Given the description of an element on the screen output the (x, y) to click on. 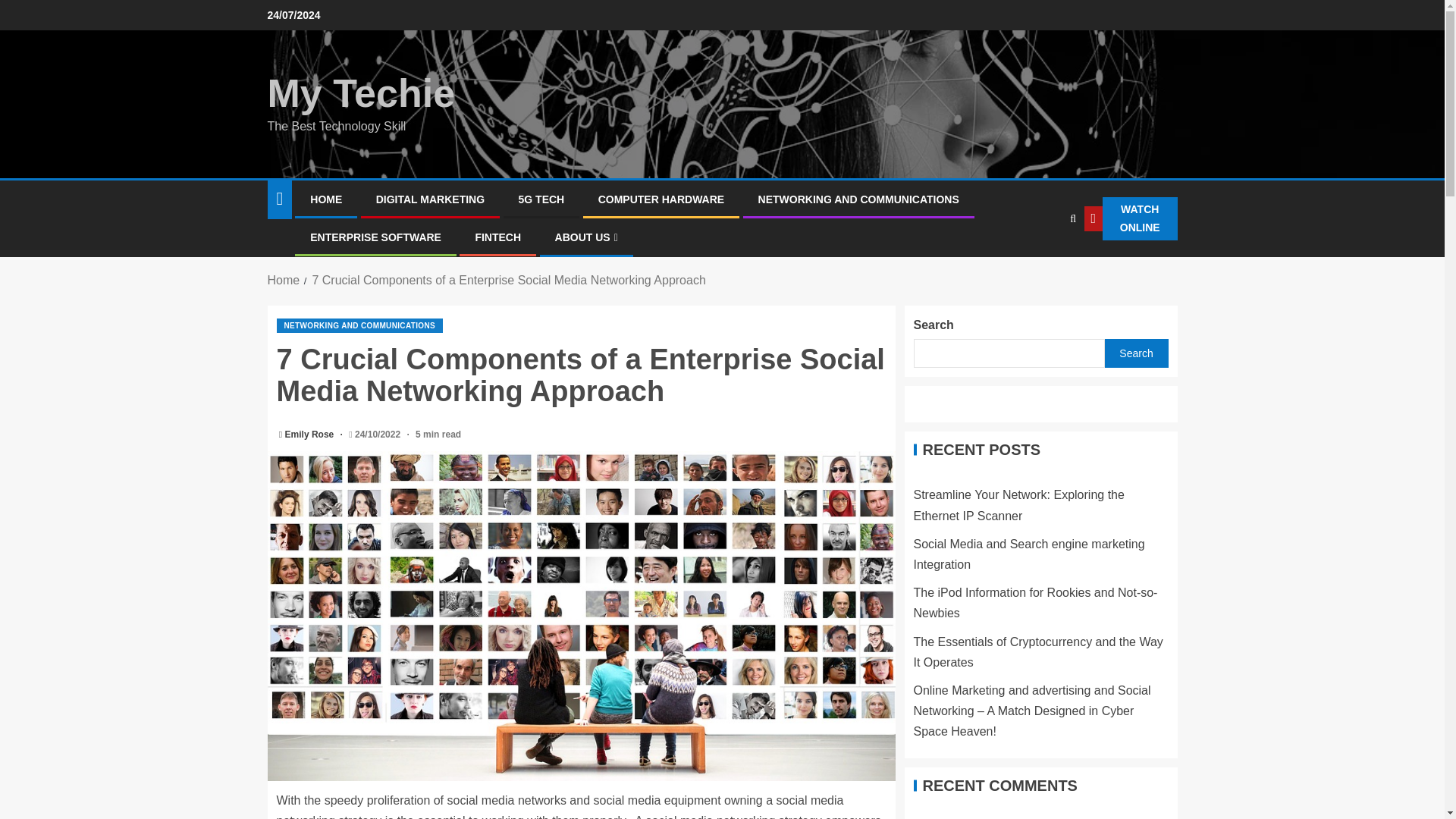
COMPUTER HARDWARE (660, 199)
NETWORKING AND COMMUNICATIONS (858, 199)
ABOUT US (585, 236)
HOME (326, 199)
Home (282, 279)
Search (1040, 265)
DIGITAL MARKETING (429, 199)
My Techie (360, 93)
5G TECH (541, 199)
ENTERPRISE SOFTWARE (375, 236)
NETWORKING AND COMMUNICATIONS (359, 325)
FINTECH (497, 236)
WATCH ONLINE (1130, 218)
Emily Rose (310, 434)
